Given the description of an element on the screen output the (x, y) to click on. 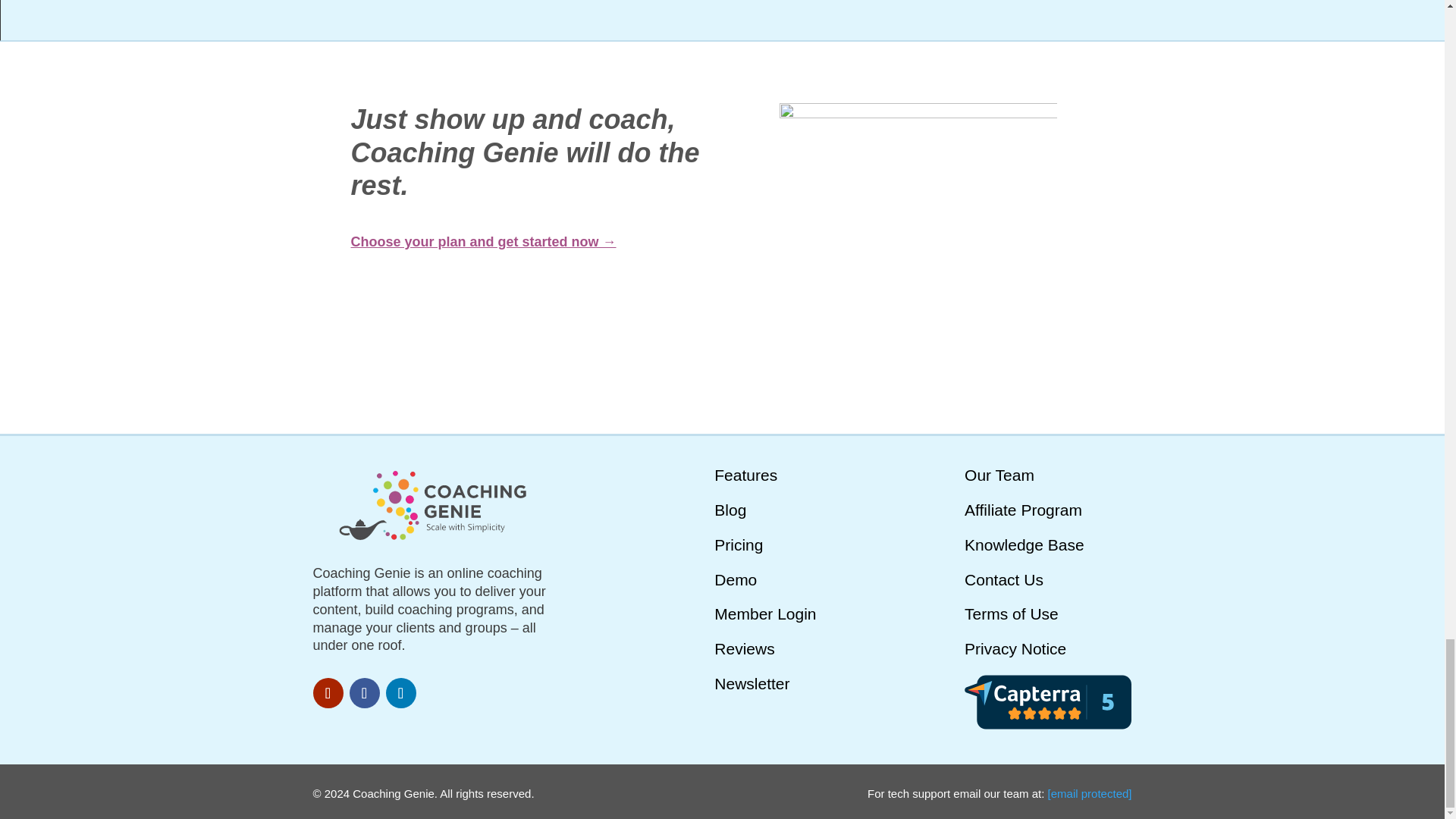
Reviews (744, 648)
Features (745, 475)
Blog (729, 509)
Knowledge Base (1023, 544)
Privacy Notice (1014, 648)
Newsletter (751, 683)
Pricing (738, 544)
Demo (735, 579)
Contact Us (1003, 579)
Member Login (764, 613)
Terms of Use (1010, 613)
clientview (917, 241)
CG-Logo-1 (434, 504)
Affiliate Program (1022, 509)
Follow on Youtube (327, 693)
